Given the description of an element on the screen output the (x, y) to click on. 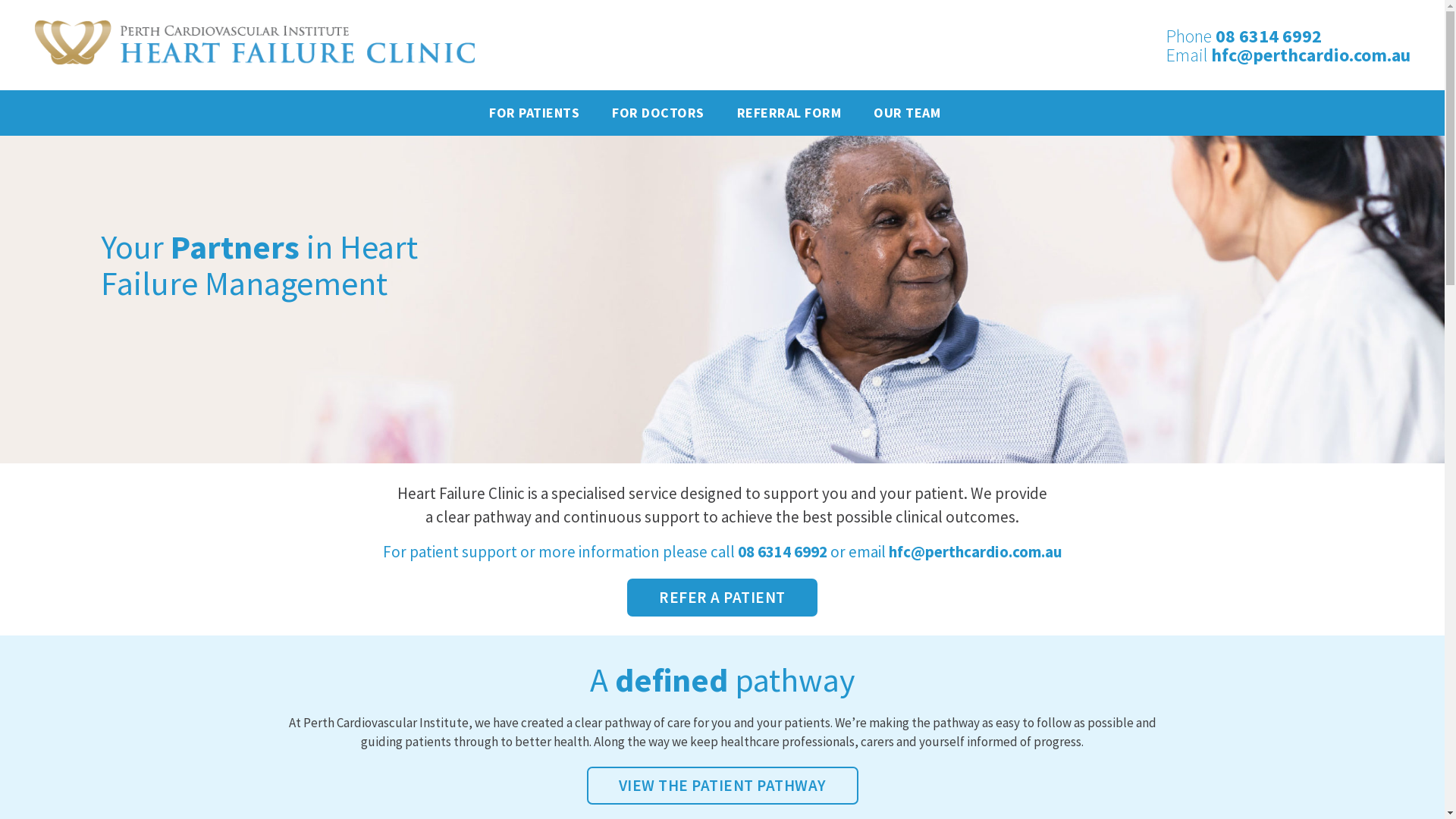
REFERRAL FORM Element type: text (788, 112)
OUR TEAM Element type: text (906, 112)
VIEW THE PATIENT PATHWAY Element type: text (722, 785)
hfc@perthcardio.com.au Element type: text (975, 551)
FOR PATIENTS Element type: text (541, 112)
FOR DOCTORS Element type: text (657, 112)
REFER A PATIENT Element type: text (722, 597)
